Given the description of an element on the screen output the (x, y) to click on. 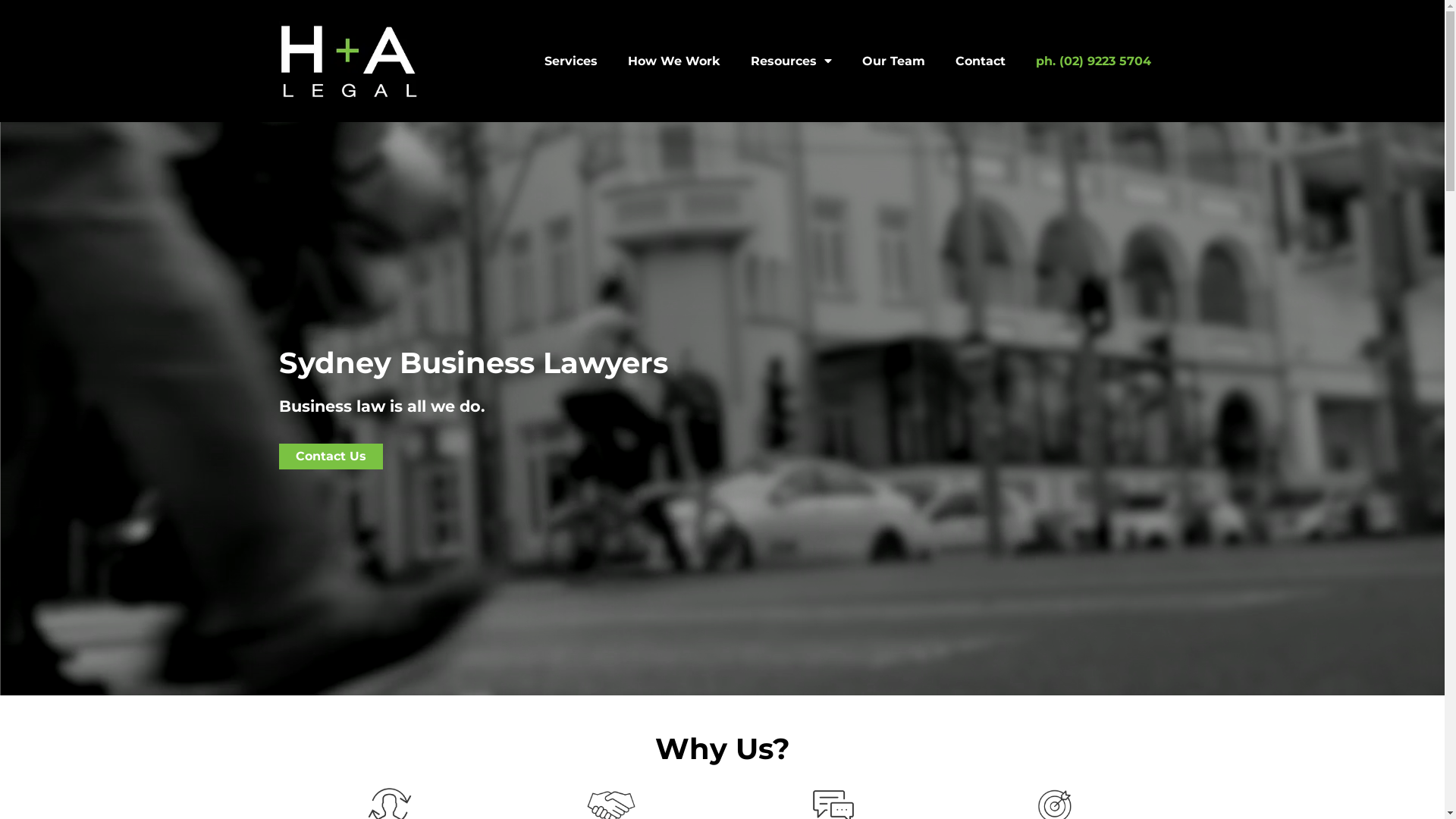
Resources Element type: text (791, 60)
Services Element type: text (570, 60)
ph. (02) 9223 5704 Element type: text (1093, 60)
Contact Us Element type: text (330, 456)
Our Team Element type: text (892, 60)
How We Work Element type: text (673, 60)
Contact Element type: text (980, 60)
